Given the description of an element on the screen output the (x, y) to click on. 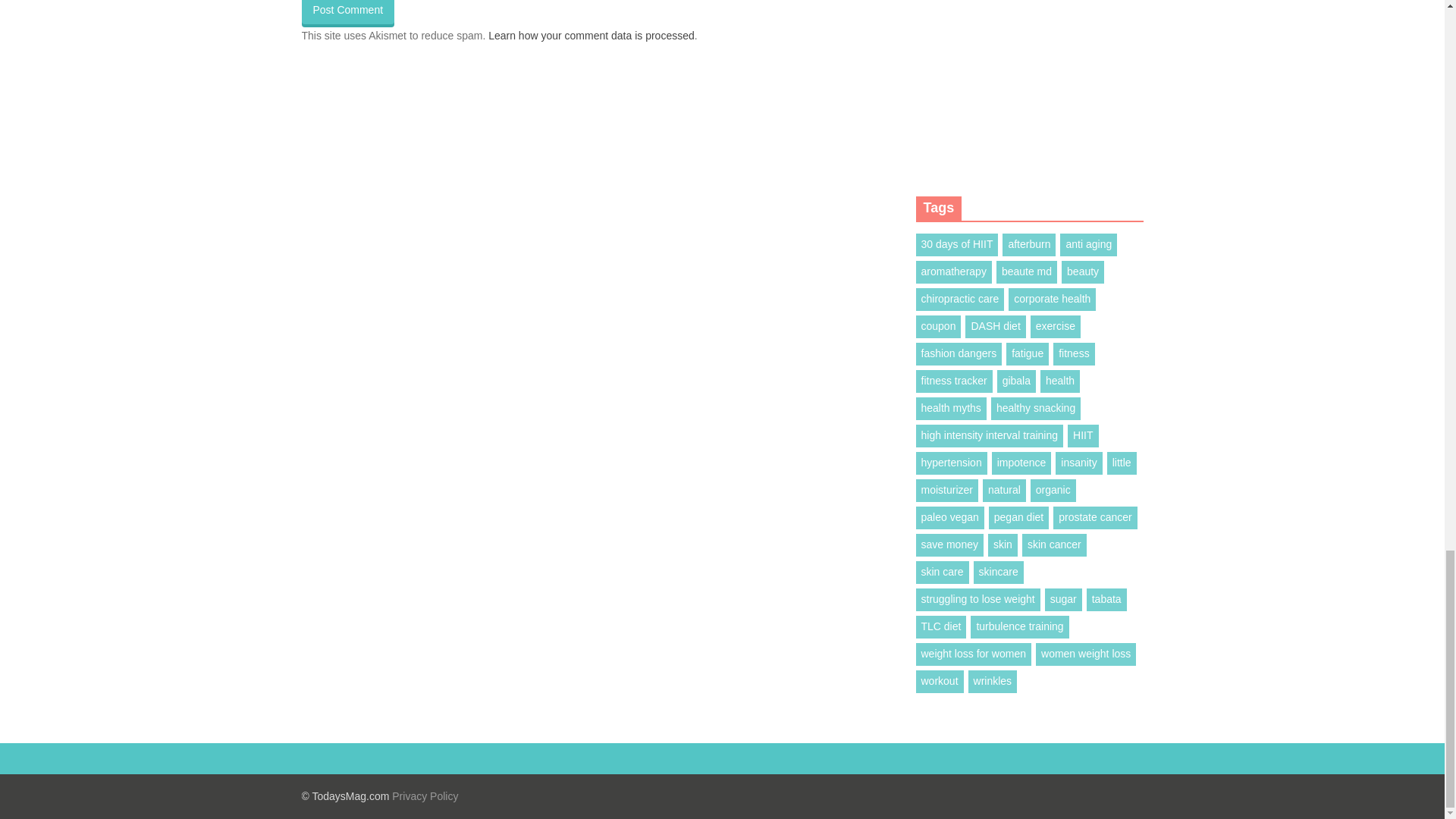
Post Comment (347, 12)
Post Comment (347, 12)
Learn how your comment data is processed (590, 35)
